Given the description of an element on the screen output the (x, y) to click on. 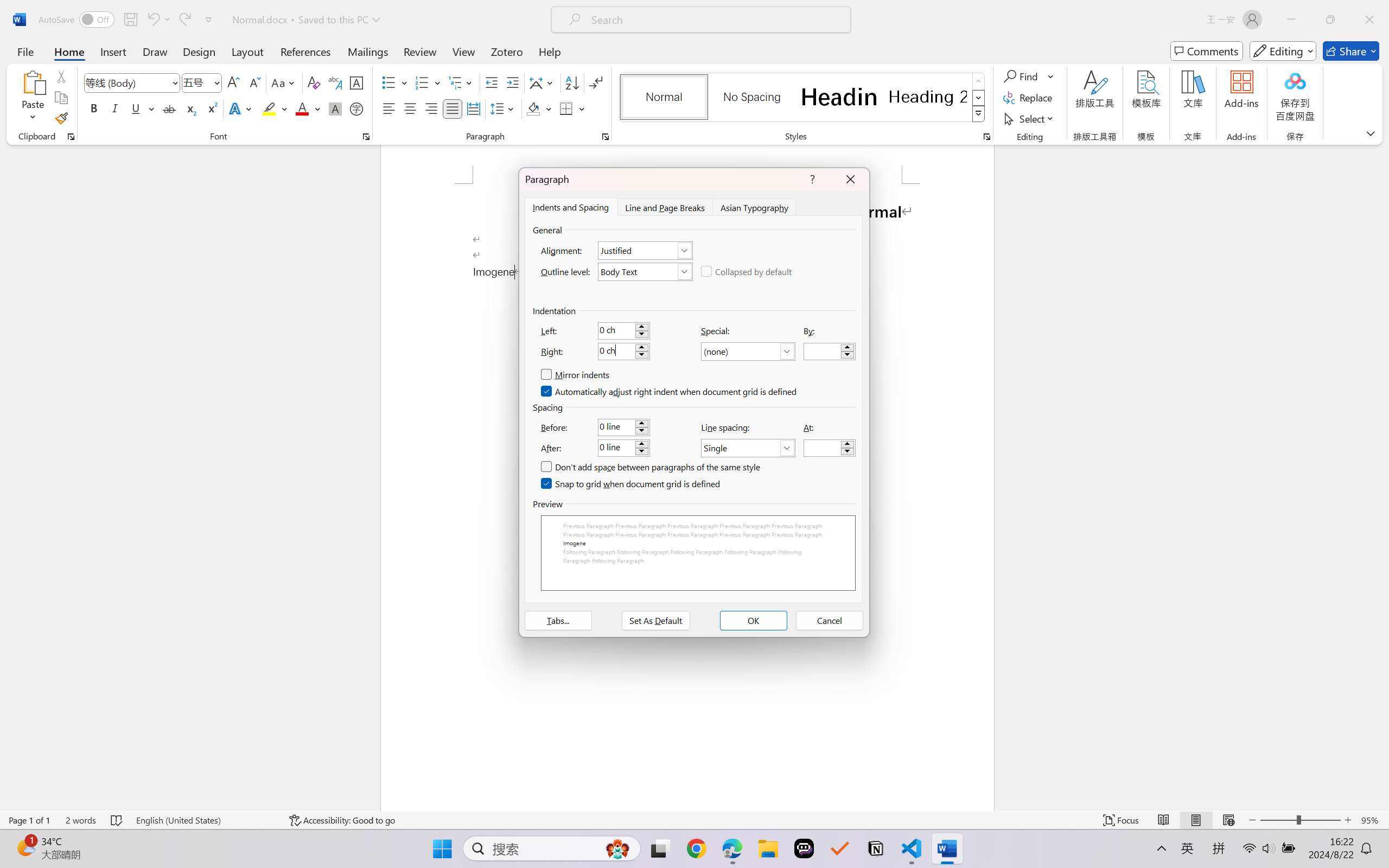
Alignment: (645, 250)
Line and Paragraph Spacing (503, 108)
Align Right (431, 108)
Heading 1 (839, 96)
Indents and Spacing (570, 206)
AutomationID: QuickStylesGallery (802, 97)
